Given the description of an element on the screen output the (x, y) to click on. 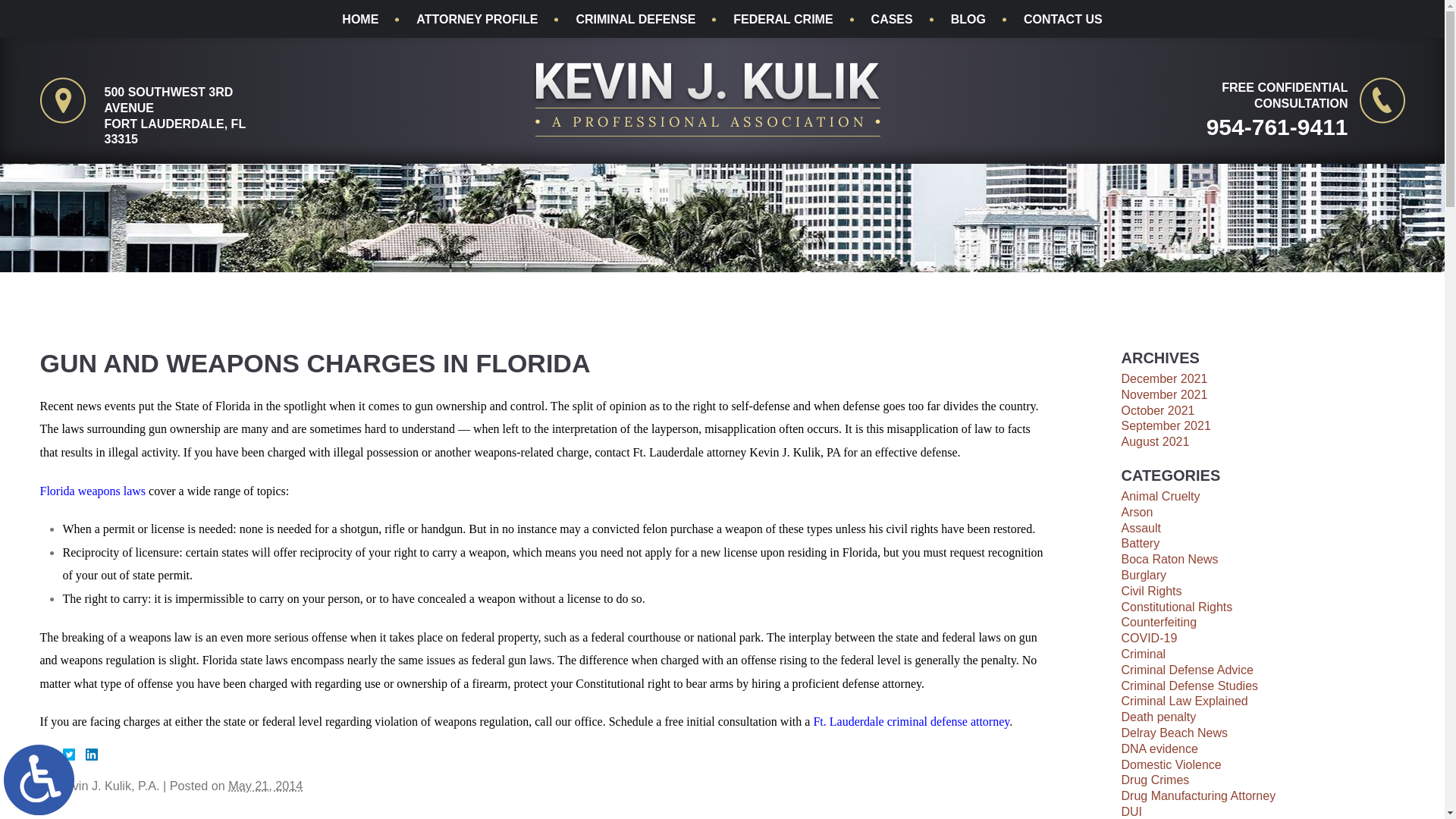
Twitter (74, 754)
HOME (360, 19)
CRIMINAL DEFENSE (635, 19)
Assault (1140, 527)
Burglary (1143, 574)
Criminal Defense Advice (1186, 669)
Arson (1137, 512)
954-761-9411 (1241, 126)
November 2021 (1164, 394)
FEDERAL CRIME (782, 19)
